Given the description of an element on the screen output the (x, y) to click on. 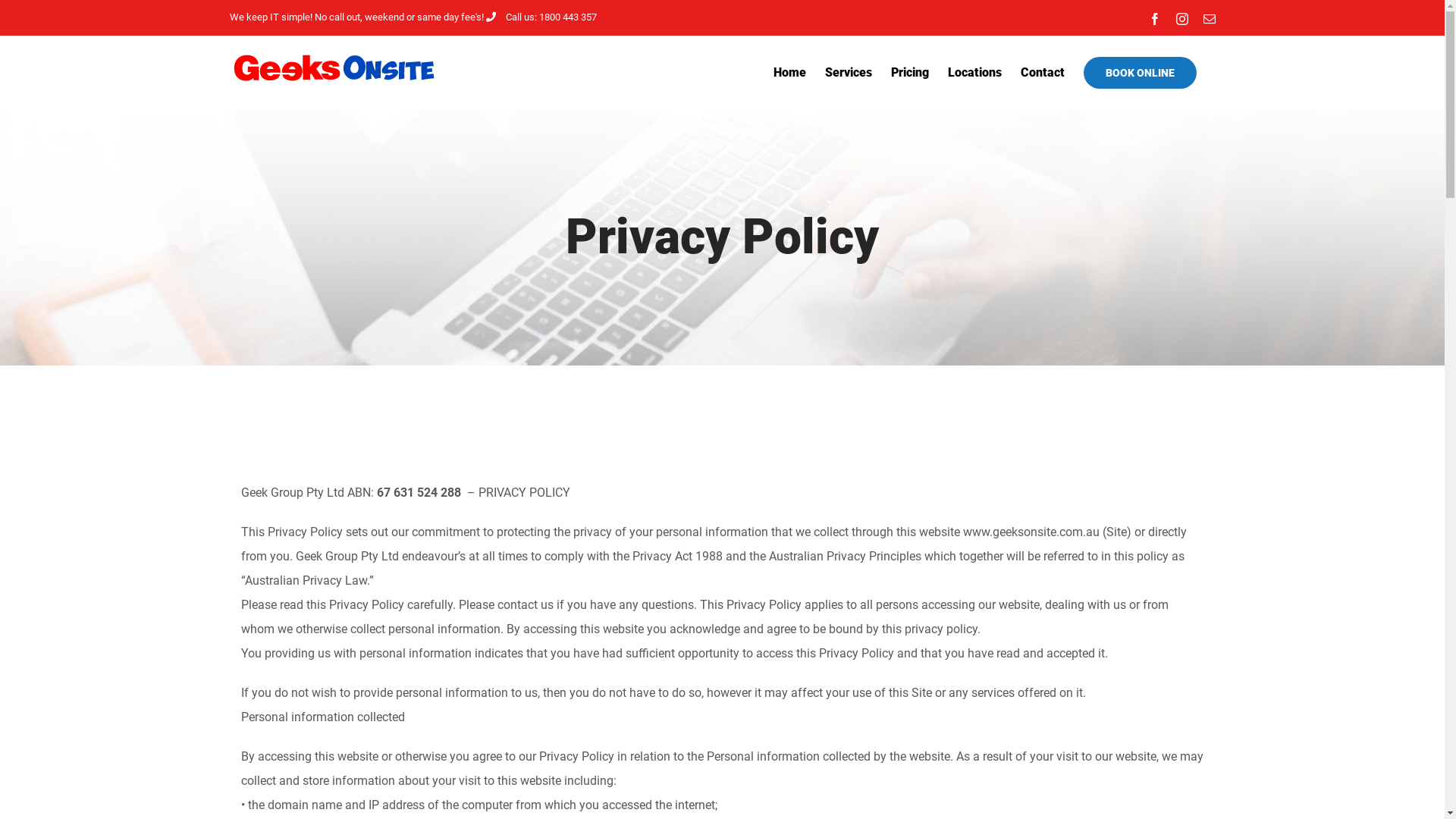
Instagram Element type: text (1181, 18)
Facebook Element type: text (1154, 18)
Pricing Element type: text (909, 72)
Locations Element type: text (974, 72)
Home Element type: text (789, 72)
BOOK ONLINE Element type: text (1138, 72)
Contact Element type: text (1042, 72)
Services Element type: text (848, 72)
Call us: 1800 443 357 Element type: text (540, 16)
Email Element type: text (1208, 18)
